Given the description of an element on the screen output the (x, y) to click on. 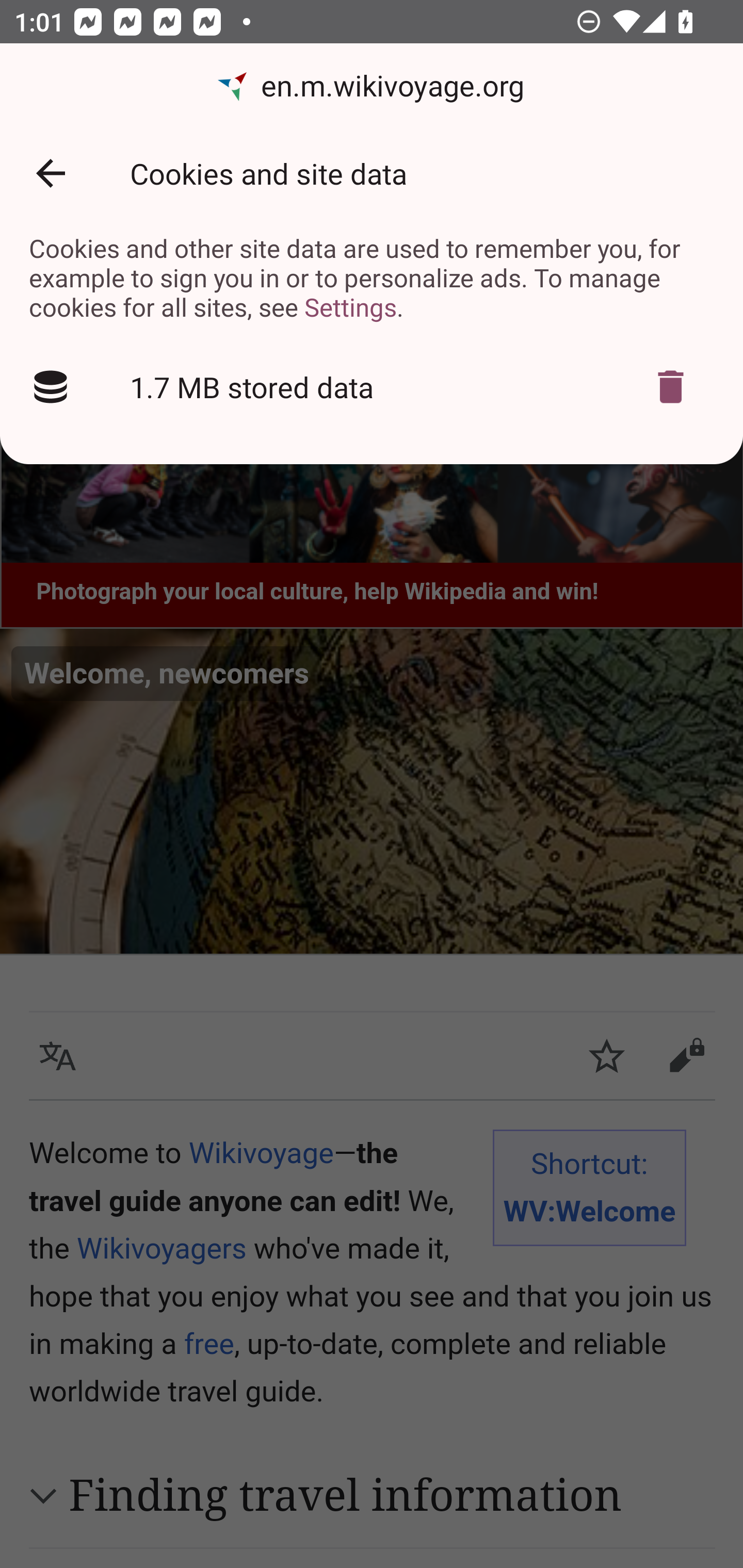
en.m.wikivoyage.org (371, 86)
Back (50, 173)
1.7 MB stored data Delete cookies? (371, 386)
